Given the description of an element on the screen output the (x, y) to click on. 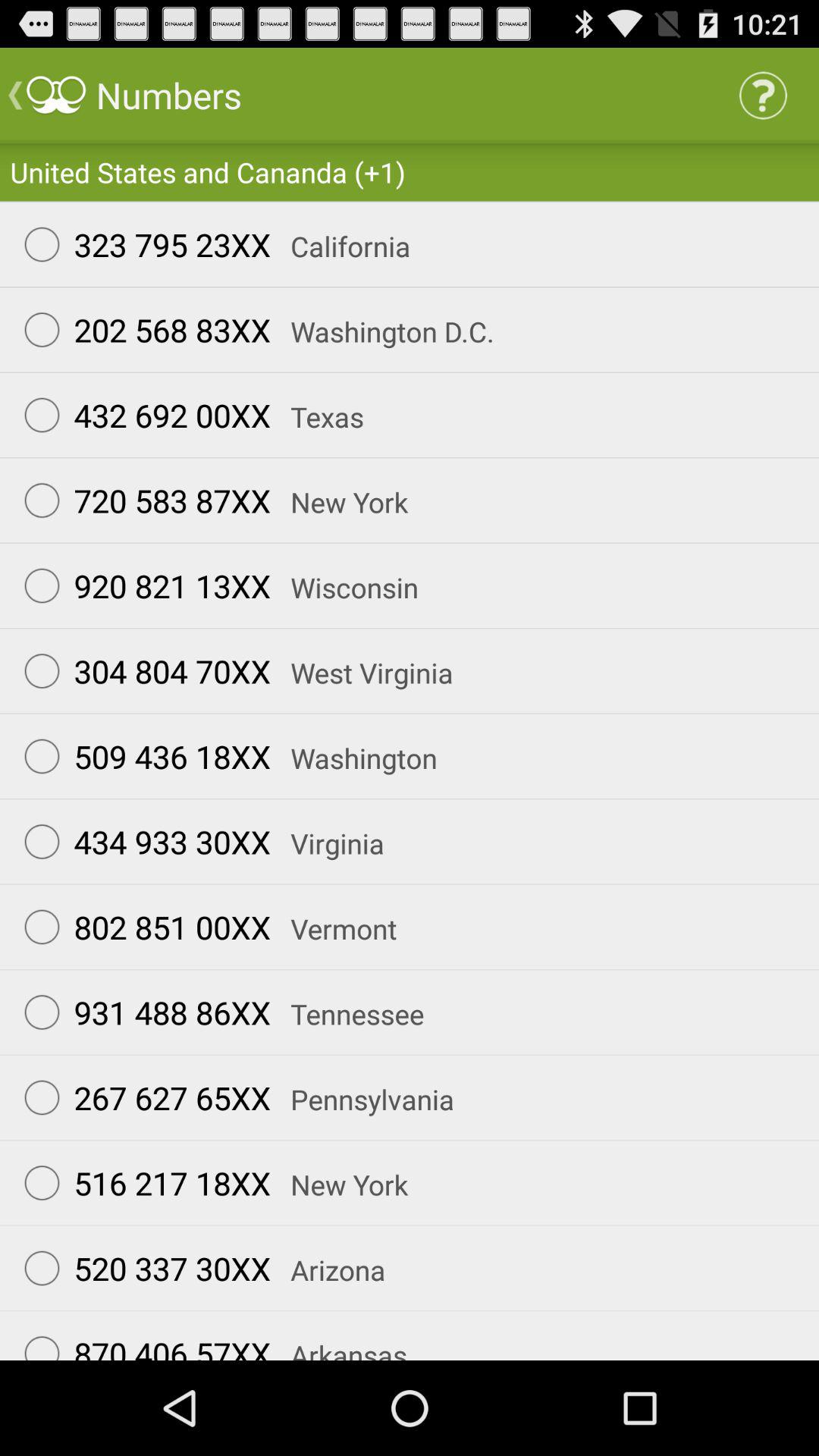
open the app next to the pennsylvania (140, 1097)
